Given the description of an element on the screen output the (x, y) to click on. 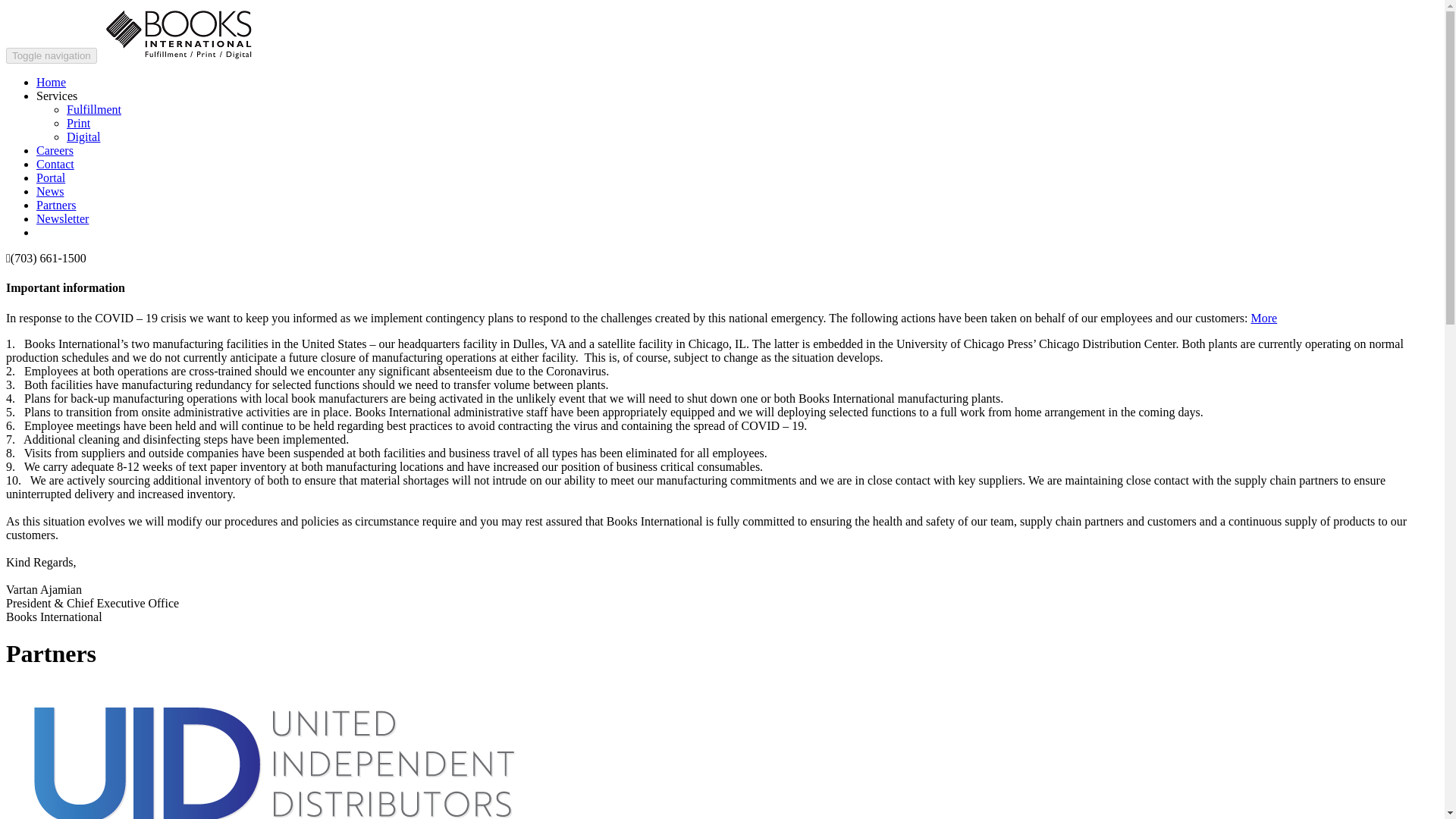
Print (78, 123)
Digital (83, 136)
Newsletter (62, 218)
Home (50, 82)
Partners (55, 205)
News (50, 191)
Contact (55, 164)
Careers (55, 150)
Fulfillment (93, 109)
Toggle navigation (51, 55)
Portal (50, 177)
More (1263, 318)
Services (56, 95)
